Given the description of an element on the screen output the (x, y) to click on. 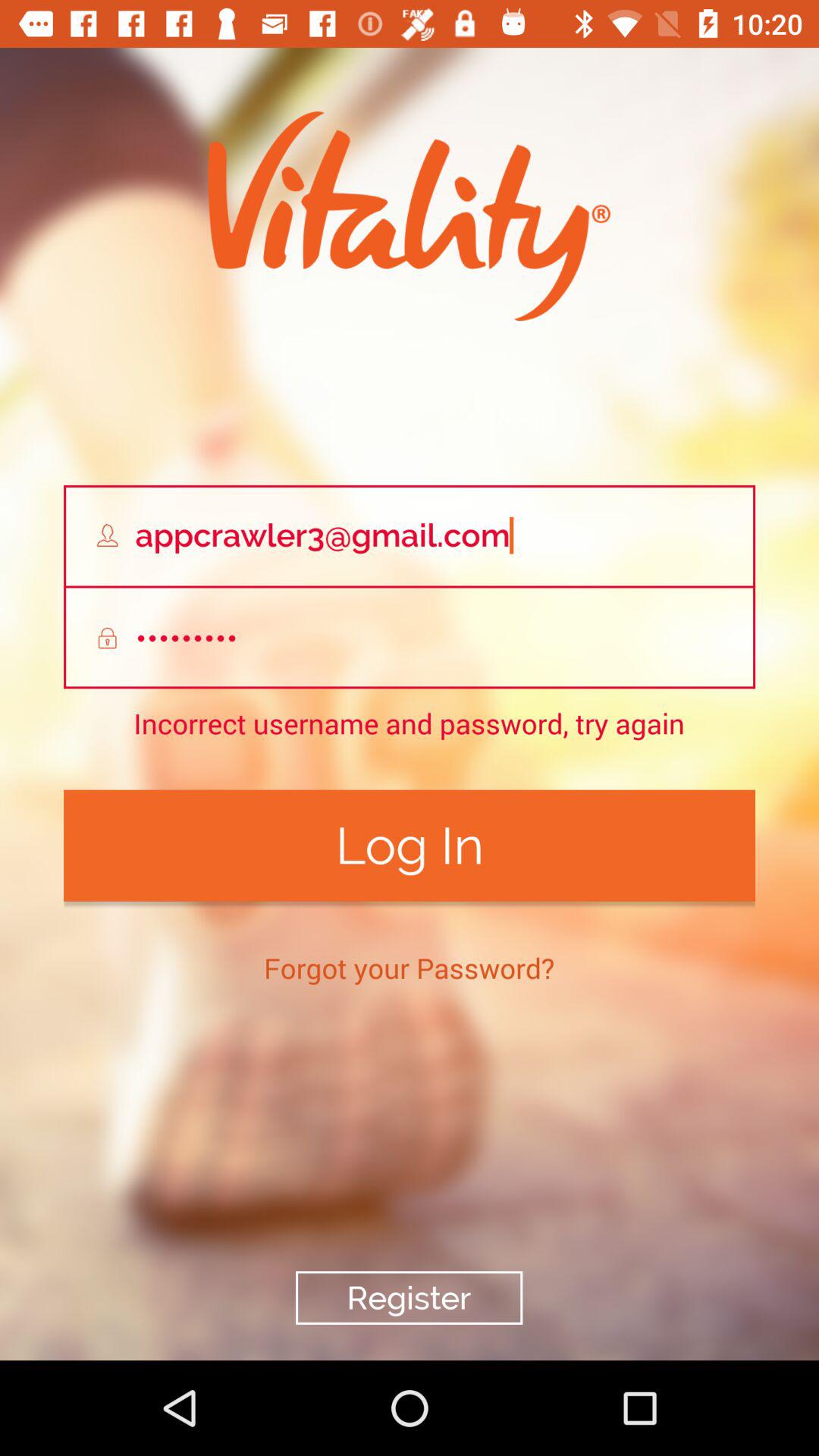
swipe to appcrawler3@gmail.com item (409, 535)
